Given the description of an element on the screen output the (x, y) to click on. 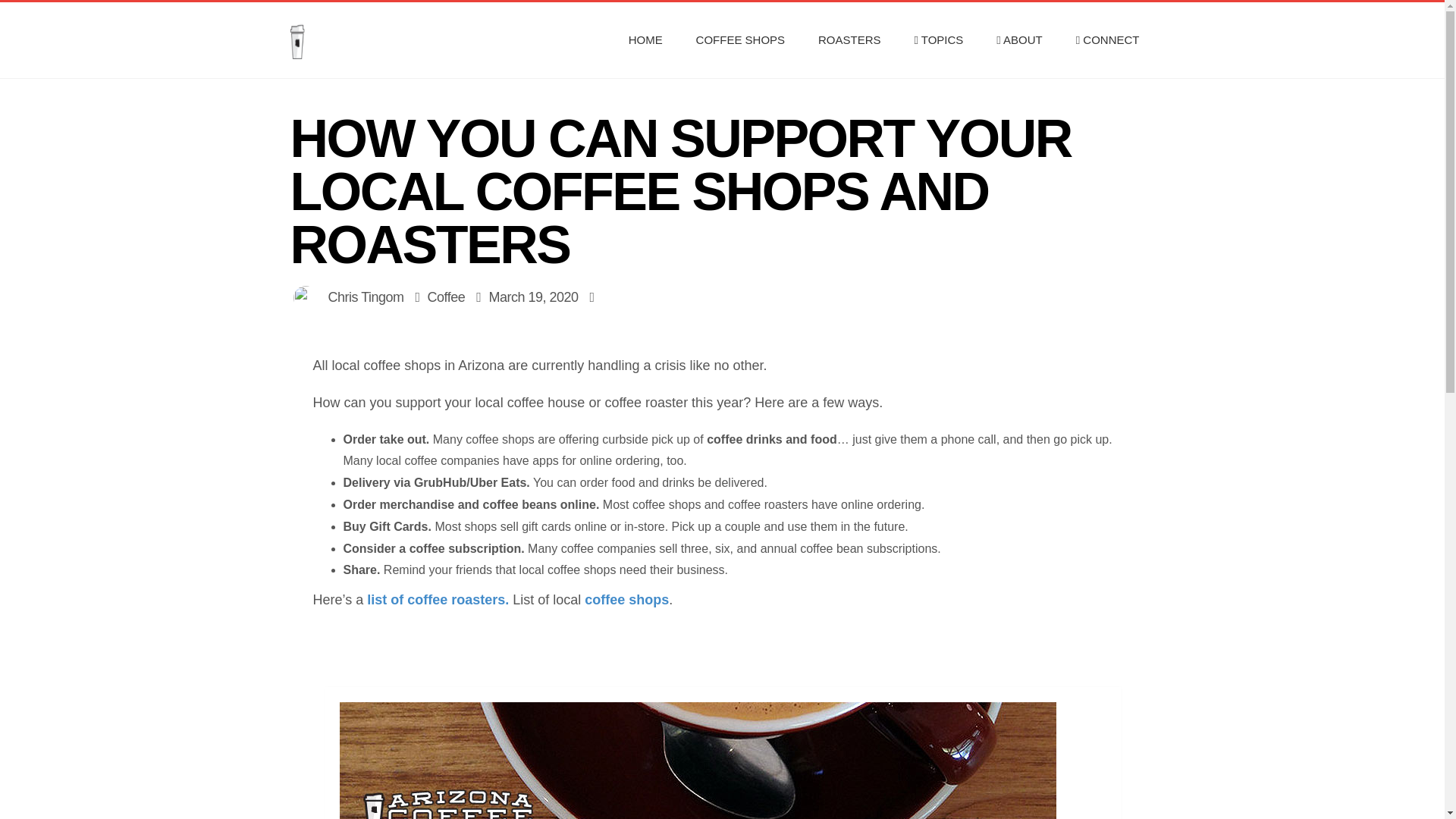
Coffee (446, 296)
Arizona Coffee (351, 39)
HOME (645, 39)
Chris Tingom (365, 296)
ABOUT (1019, 39)
TOPICS (938, 39)
ROASTERS (849, 39)
COFFEE SHOPS (740, 39)
coffee shops (626, 599)
View all posts in Coffee (446, 296)
